Given the description of an element on the screen output the (x, y) to click on. 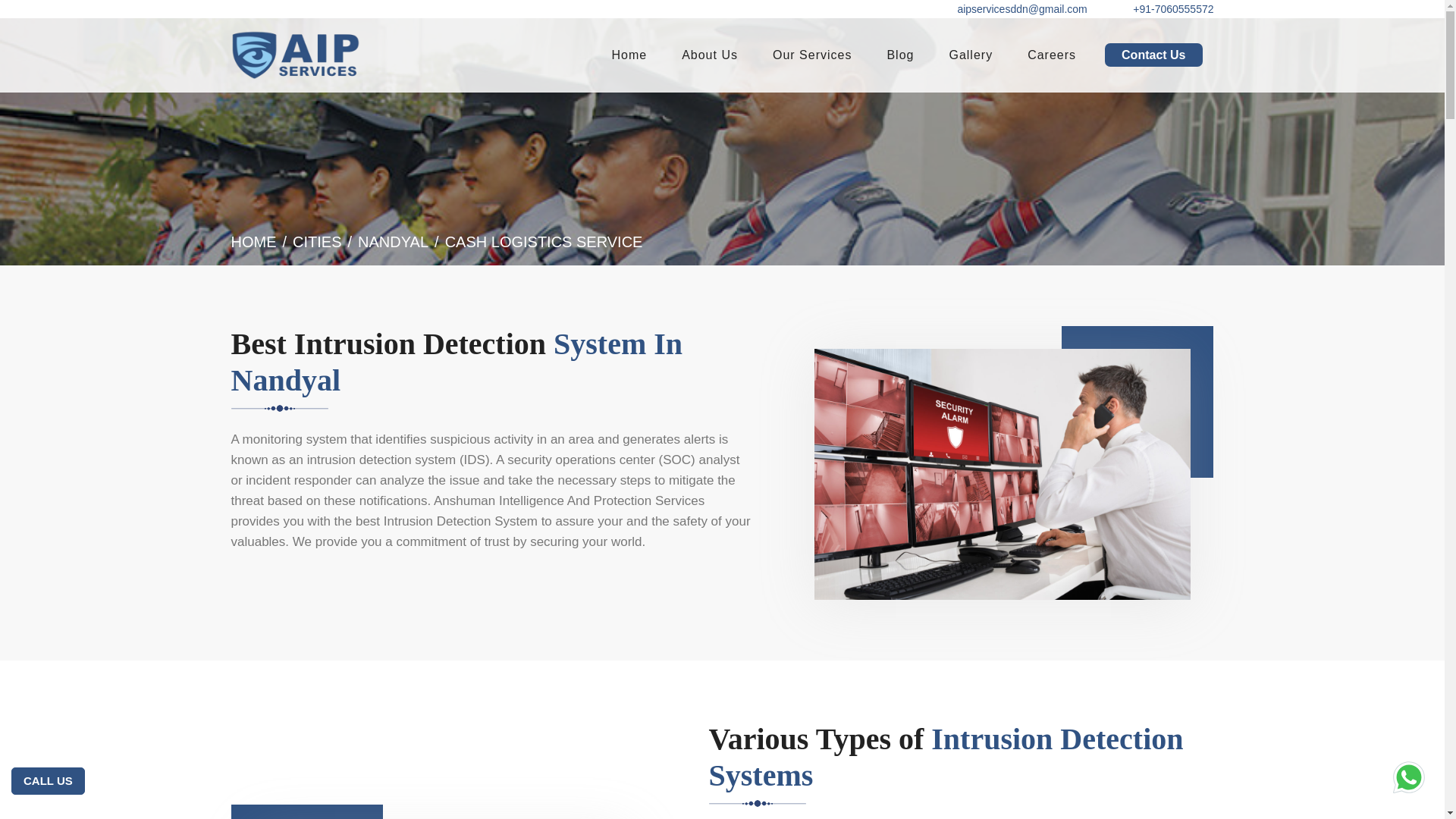
AIPS Email Address (1018, 9)
NANDYAL (393, 241)
Gallery (970, 54)
Career With AIPS (1051, 54)
HOME (253, 241)
Careers (1051, 54)
Our Services (812, 54)
View AIPS Gallery Page (970, 54)
Anshuman Intelligence And Protection Services (294, 54)
Anshuman Protection And Intelligence Services (628, 54)
About Us (709, 54)
CITIES (316, 241)
AIPS Latest Blog Posts On Intelligence And Security Services (900, 54)
Anshuman Intelligence And Protection Services (568, 500)
Blog (900, 54)
